Given the description of an element on the screen output the (x, y) to click on. 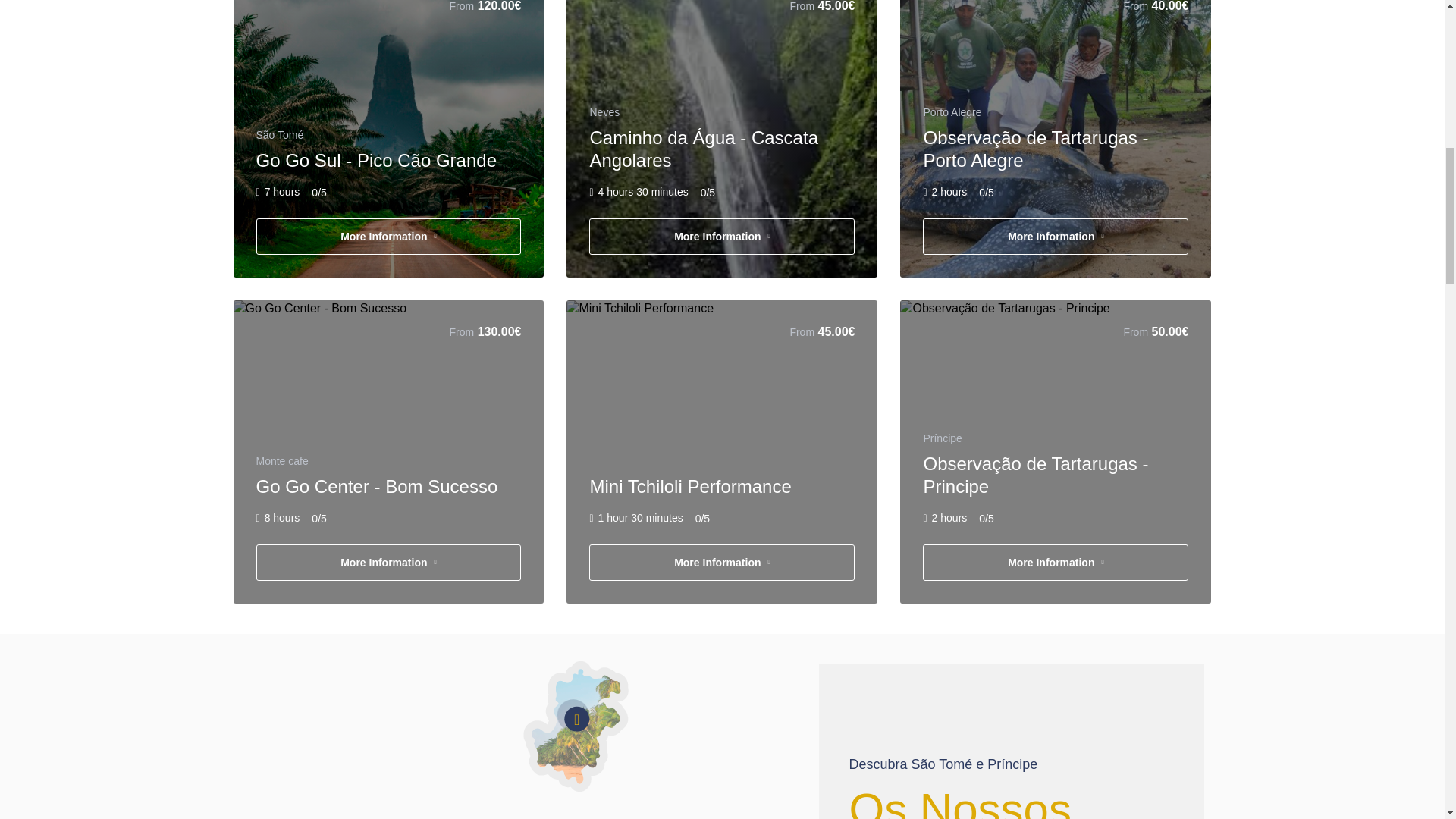
More Information (388, 236)
More Information (388, 562)
Mini Tchiloli Performance (689, 485)
More Information (1055, 236)
More Information (1055, 562)
Go Go Center - Bom Sucesso (376, 485)
More Information (721, 562)
More Information (721, 236)
